Given the description of an element on the screen output the (x, y) to click on. 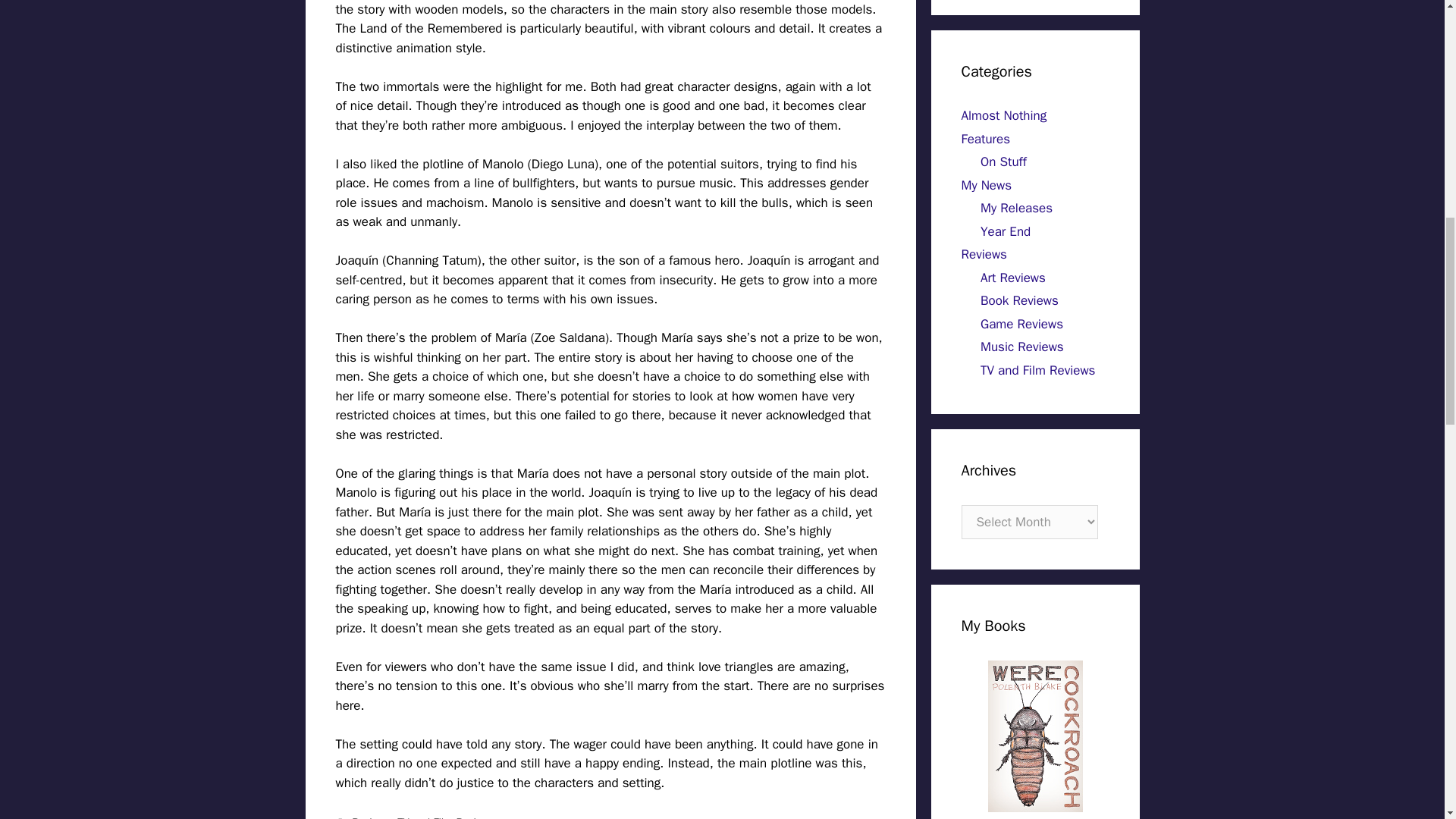
TV and Film Reviews (446, 816)
Reviews (371, 816)
Scroll back to top (1406, 720)
